Given the description of an element on the screen output the (x, y) to click on. 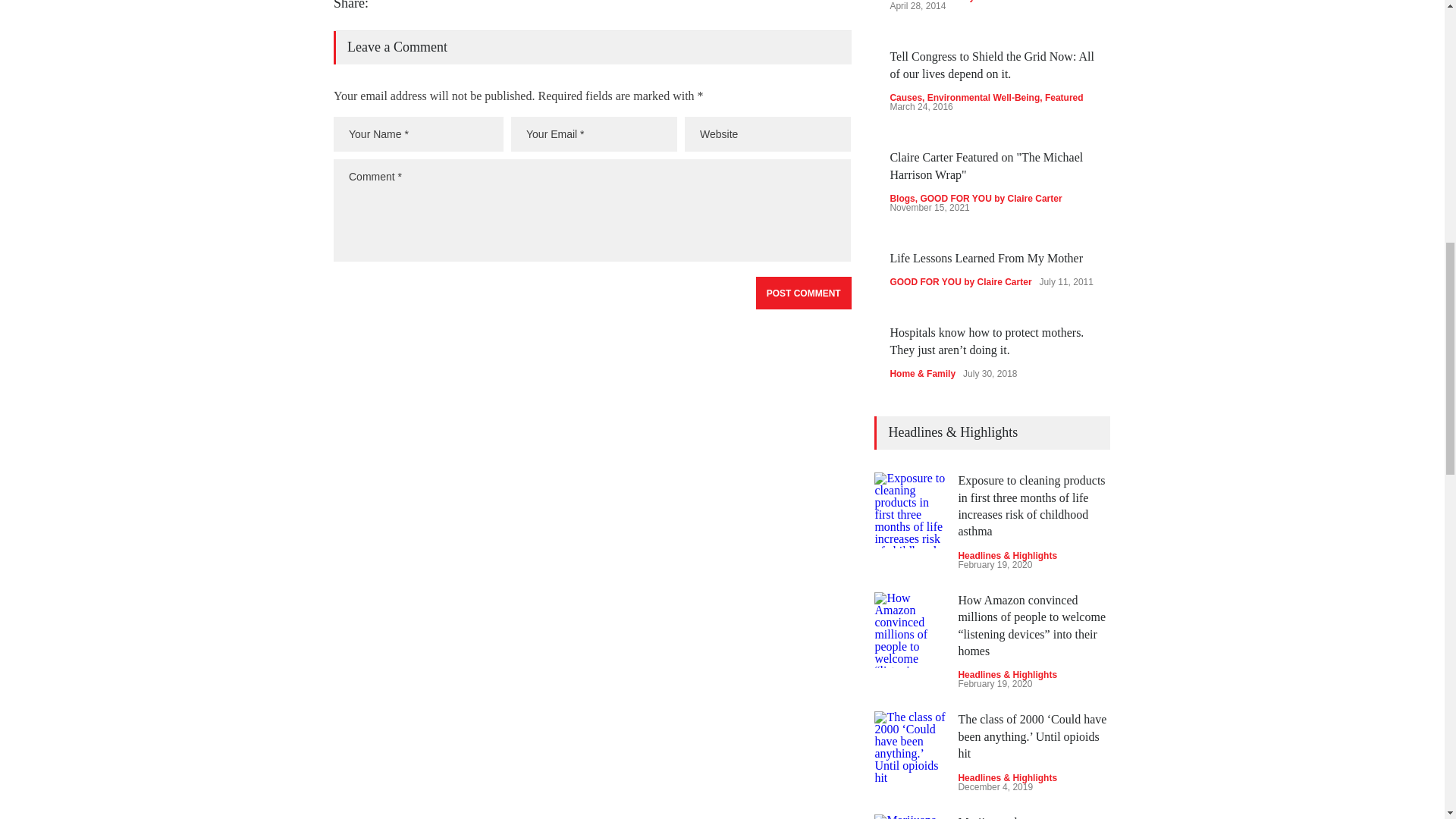
Website (767, 134)
POST COMMENT (803, 292)
